Given the description of an element on the screen output the (x, y) to click on. 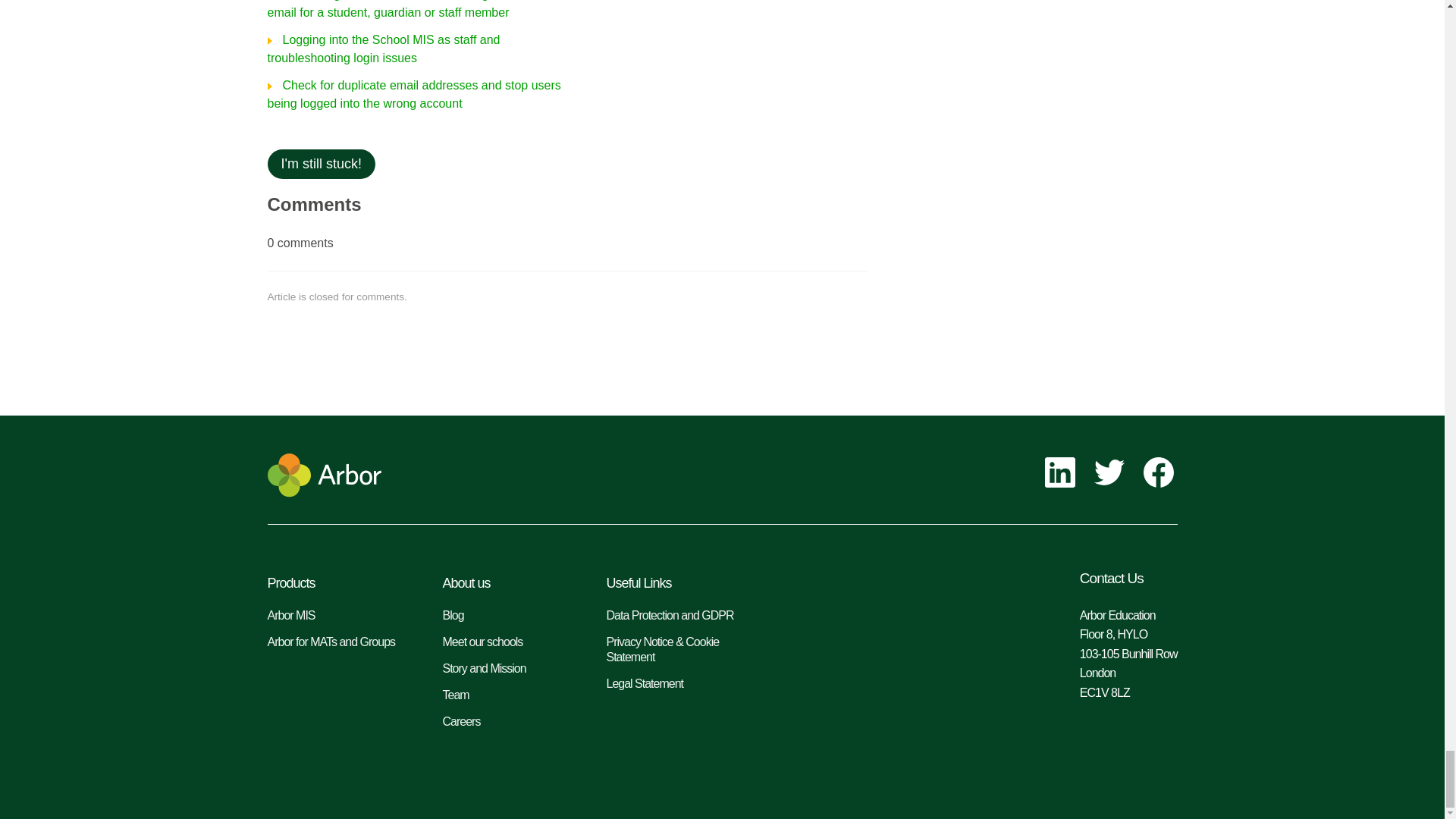
Linkedin (1061, 474)
I'm still stuck! (320, 164)
Twitter (1109, 474)
Facebook (1159, 474)
